Given the description of an element on the screen output the (x, y) to click on. 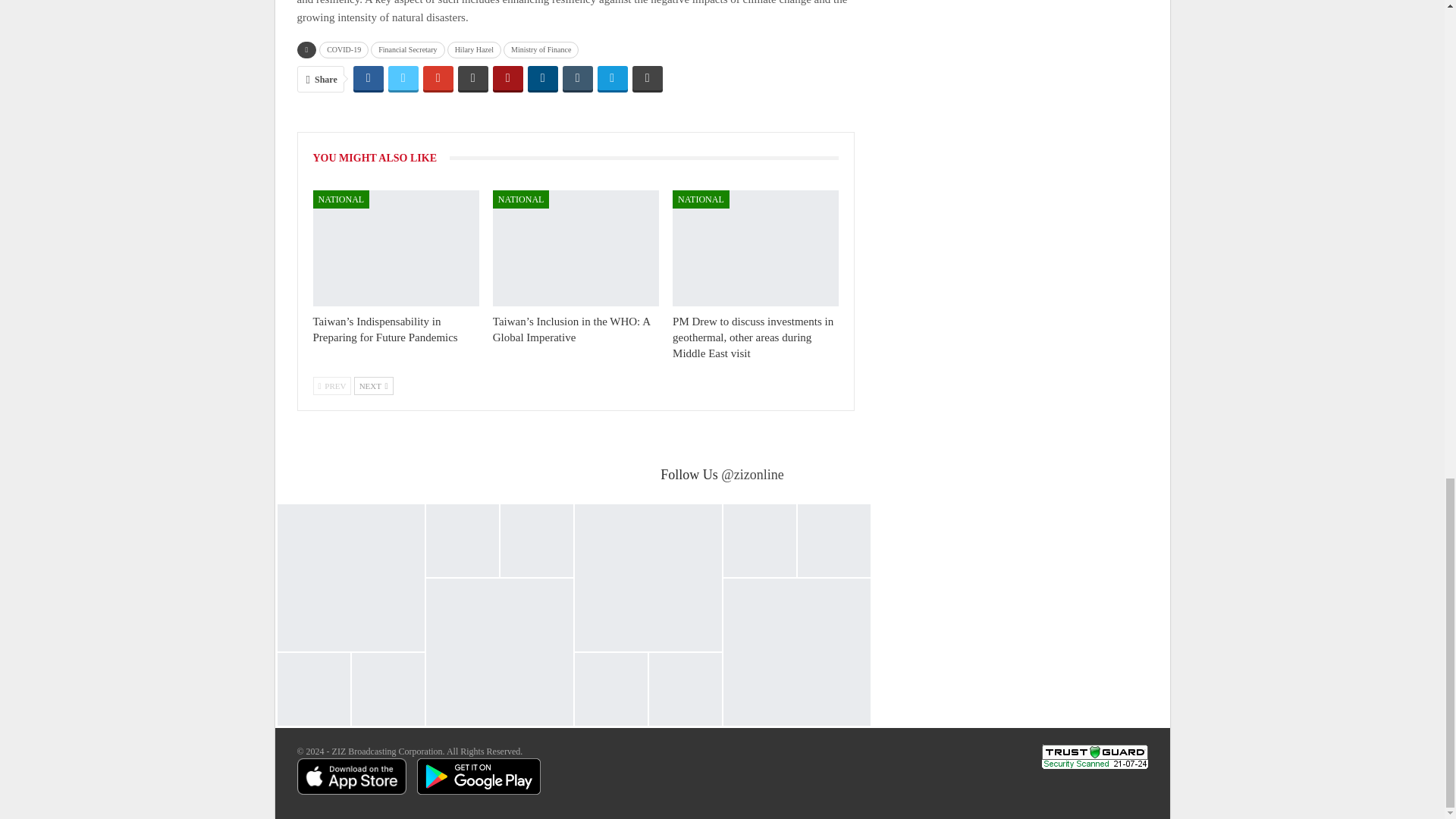
Previous (331, 385)
Next (373, 385)
